Given the description of an element on the screen output the (x, y) to click on. 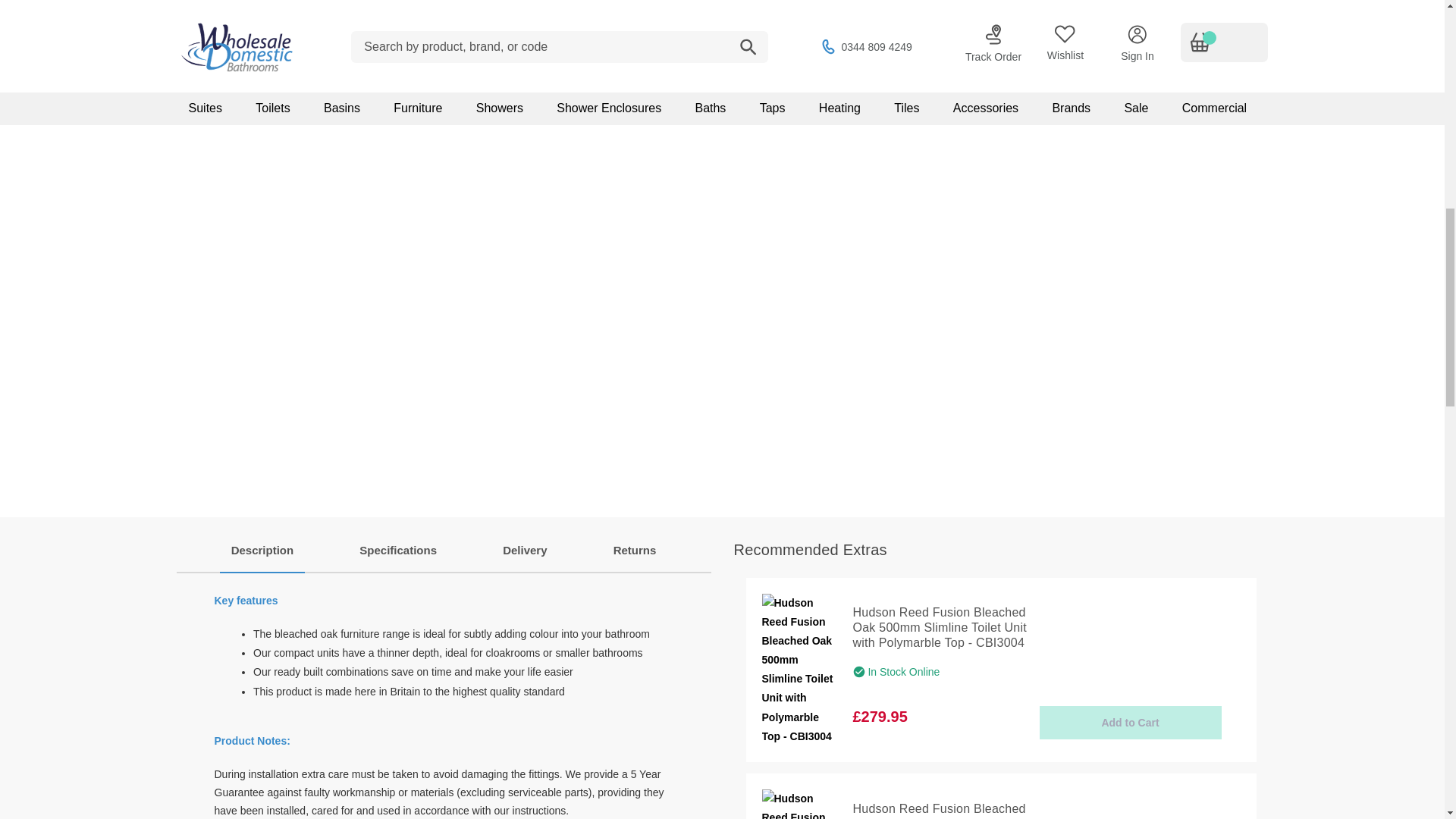
Add to Cart (1130, 722)
